Given the description of an element on the screen output the (x, y) to click on. 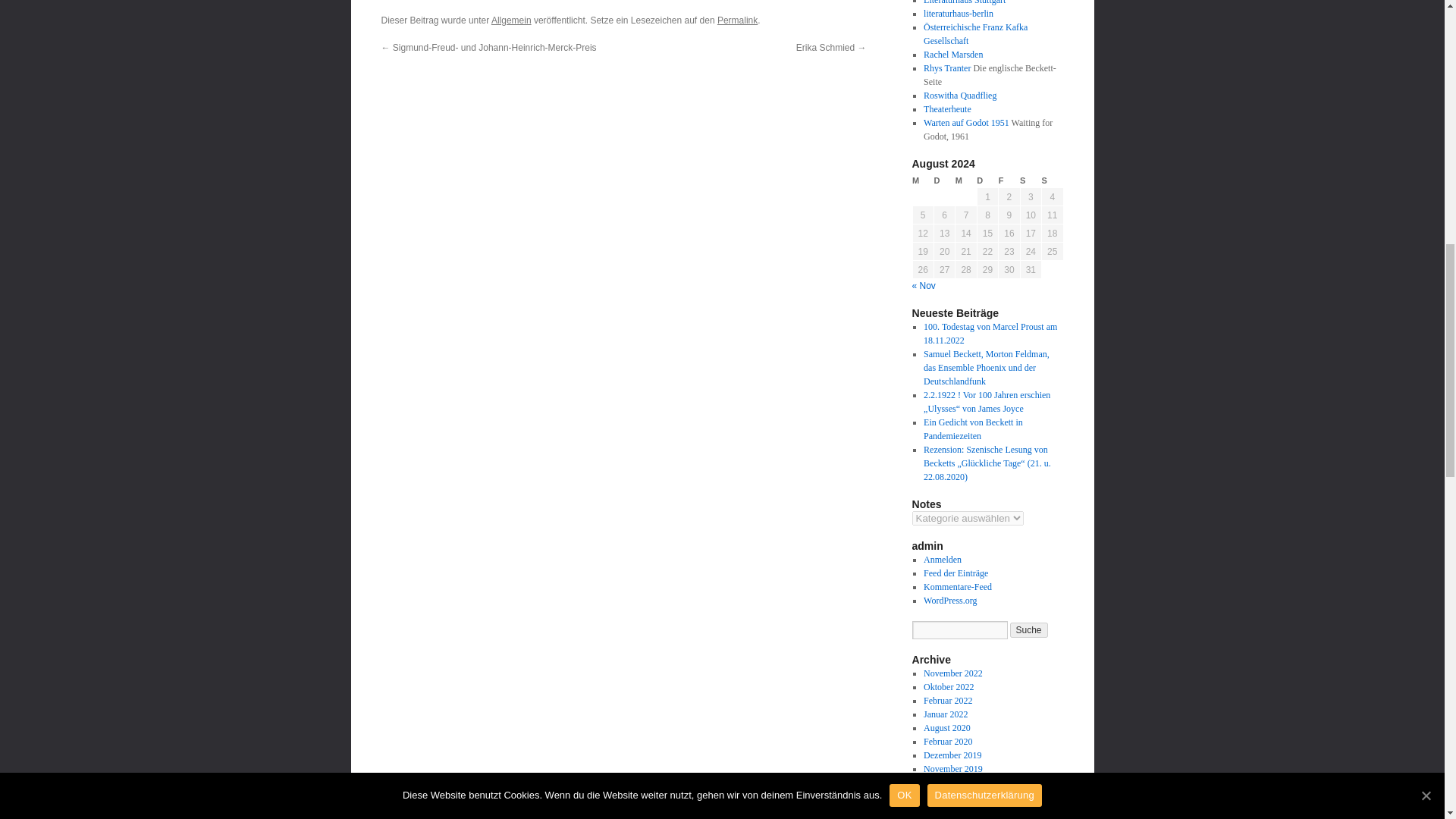
Donnerstag (986, 180)
Montag (922, 180)
Allgemein (511, 20)
Dienstag (944, 180)
Permalink (737, 20)
Sonntag (1052, 180)
Literaturhaus Stuttgart (964, 2)
Suche (1029, 630)
Die englische Beckett-Seite (947, 68)
Waiting for Godot, 1961 (966, 122)
literaturhaus-berlin (957, 13)
Freitag (1009, 180)
Samstag (1030, 180)
Mittwoch (965, 180)
